Given the description of an element on the screen output the (x, y) to click on. 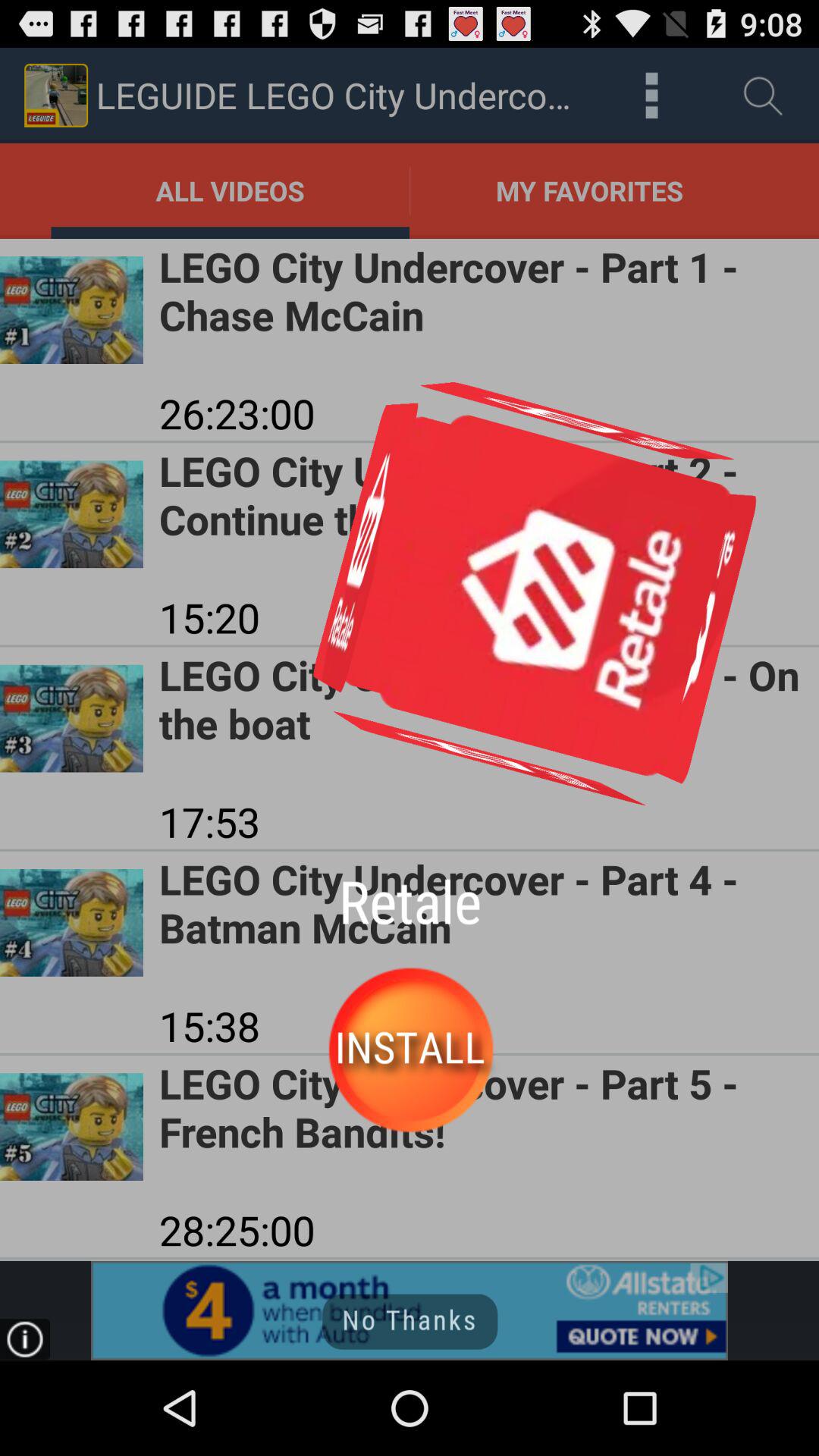
allstate advertisement (409, 1310)
